Given the description of an element on the screen output the (x, y) to click on. 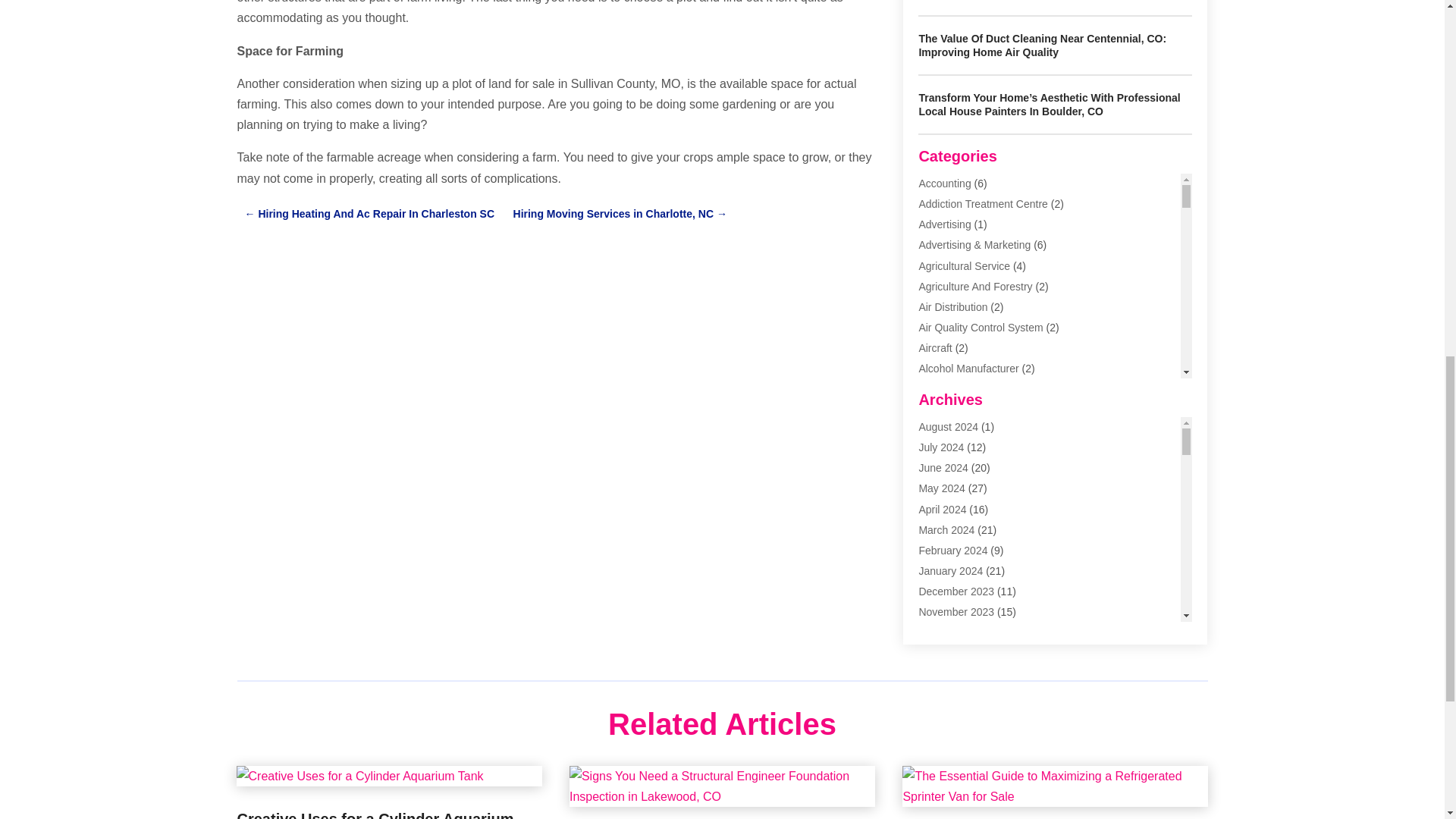
Agricultural Service (964, 265)
Advertising (944, 224)
Alcohol Manufacturer (967, 368)
Addiction Treatment Centre (982, 203)
Accounting (944, 183)
Air Distribution (952, 306)
Animal Removal (956, 410)
Aircraft (935, 347)
Agriculture And Forestry (975, 286)
